Given the description of an element on the screen output the (x, y) to click on. 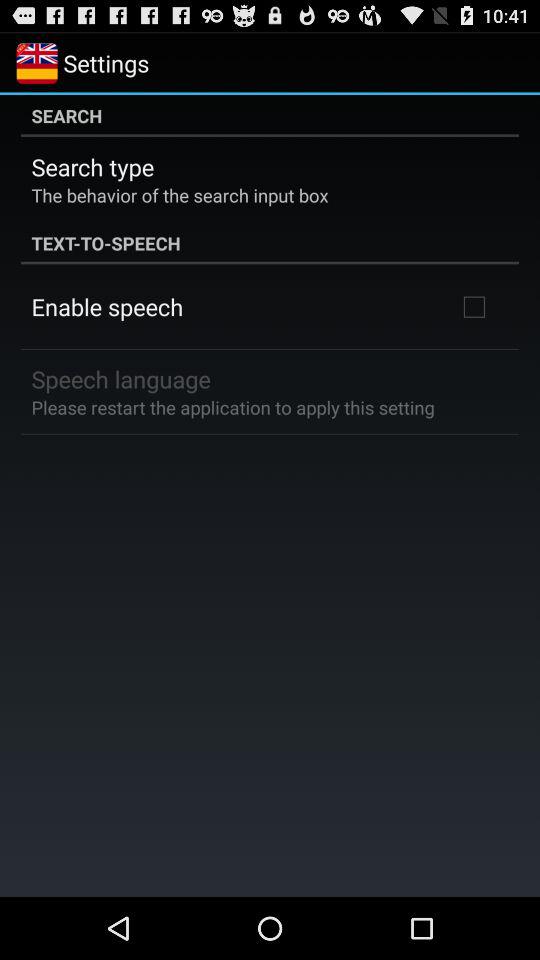
open enable speech app (107, 306)
